Given the description of an element on the screen output the (x, y) to click on. 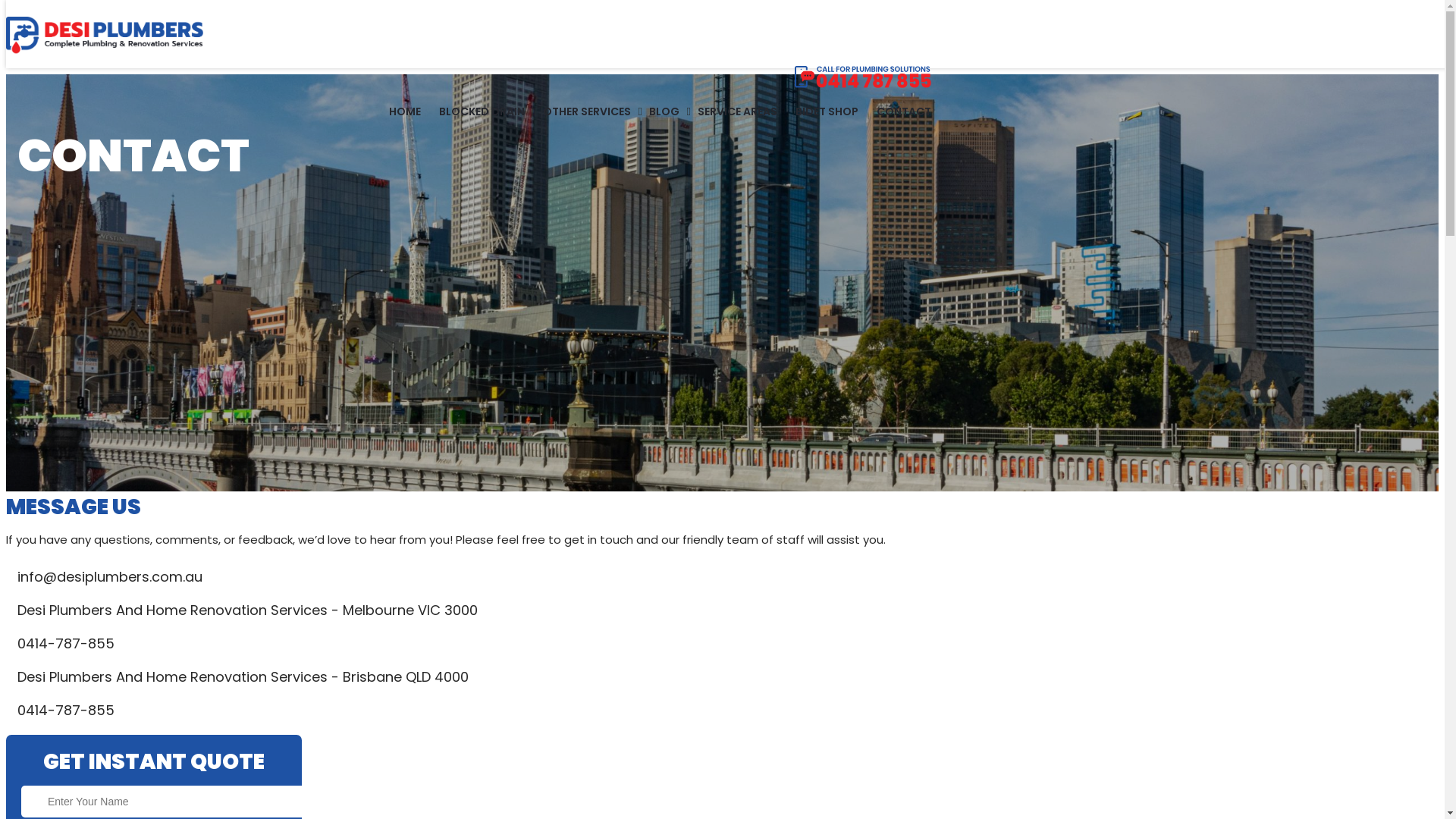
CONTACT Element type: text (903, 114)
BIDET SHOP Element type: text (826, 114)
OTHER SERVICES Element type: text (586, 114)
HOME Element type: text (404, 114)
SERVICE AREAS Element type: text (737, 114)
BLOG Element type: text (664, 114)
BLOCKED DRAIN Element type: text (481, 114)
